Given the description of an element on the screen output the (x, y) to click on. 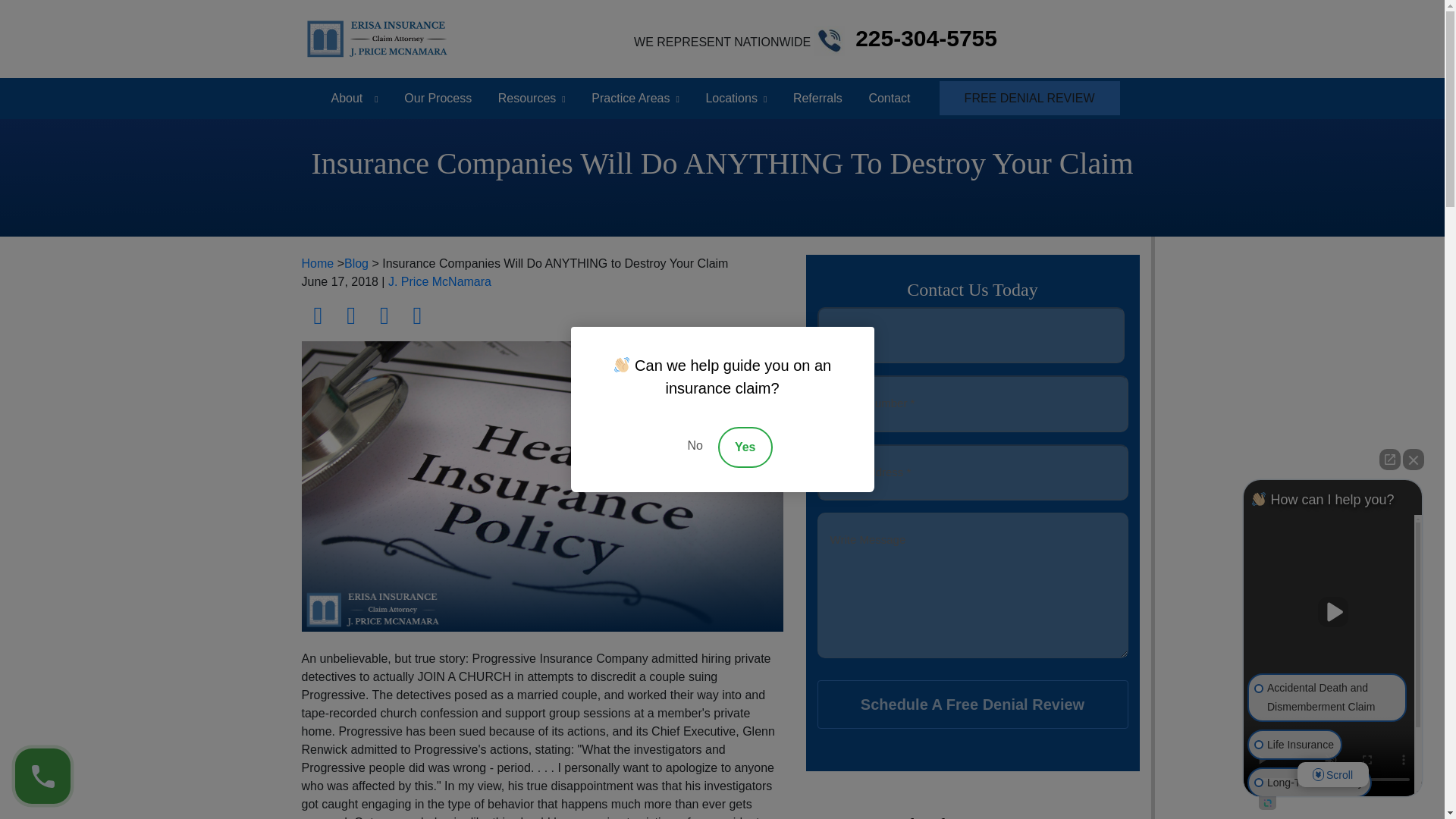
Referrals (817, 97)
Locations (727, 97)
Practice Areas (627, 97)
J. Price McNamara (440, 281)
Home (317, 263)
Contact (888, 97)
Resources (524, 97)
FREE DENIAL REVIEW (1029, 98)
Blog (355, 263)
Our Process (437, 97)
225-304-5755 (926, 37)
Our Process (437, 97)
Practice Areas (627, 97)
Resources (524, 97)
About (346, 97)
